Given the description of an element on the screen output the (x, y) to click on. 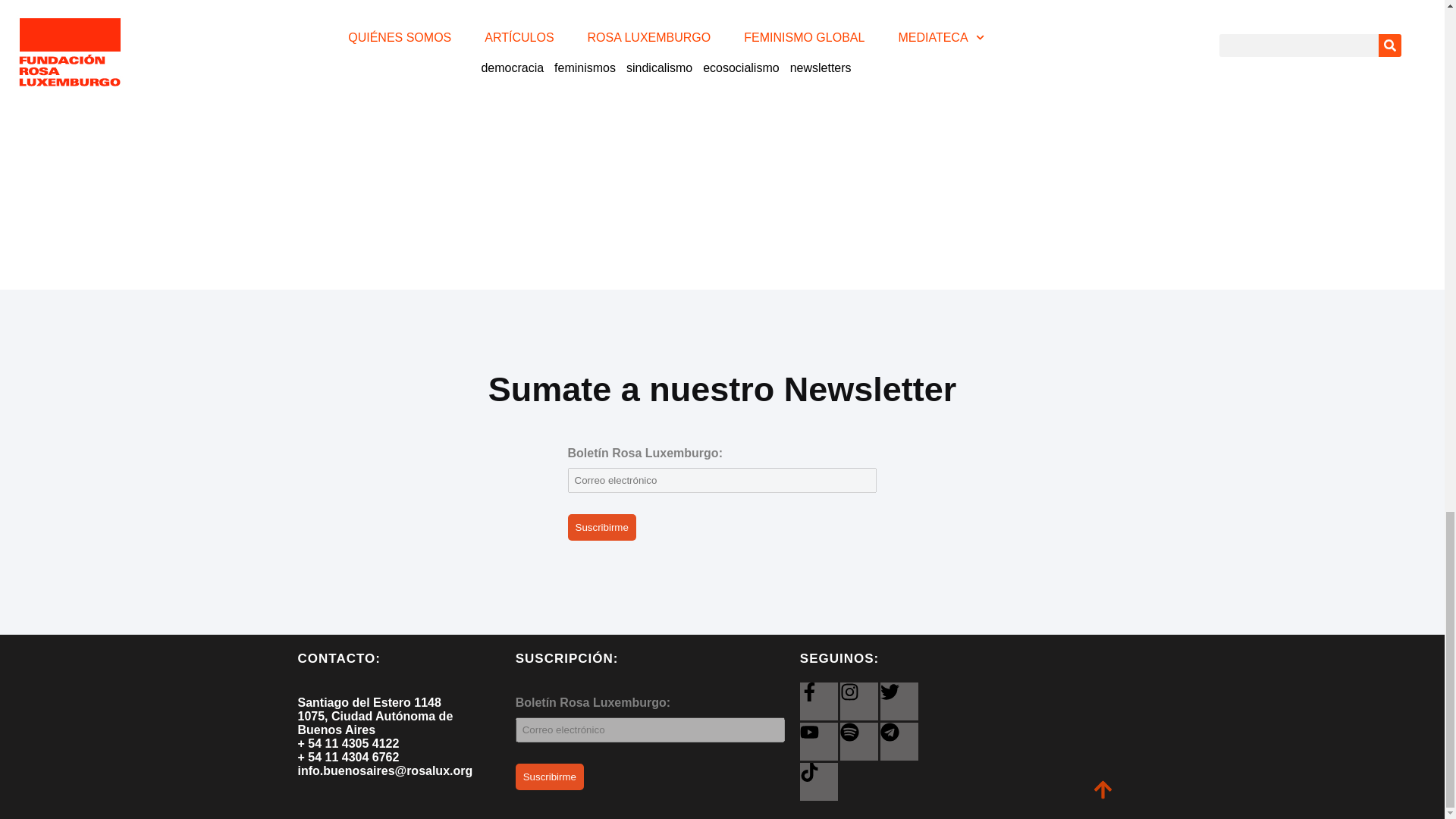
Suscribirme (549, 776)
Suscribirme (600, 527)
